Given the description of an element on the screen output the (x, y) to click on. 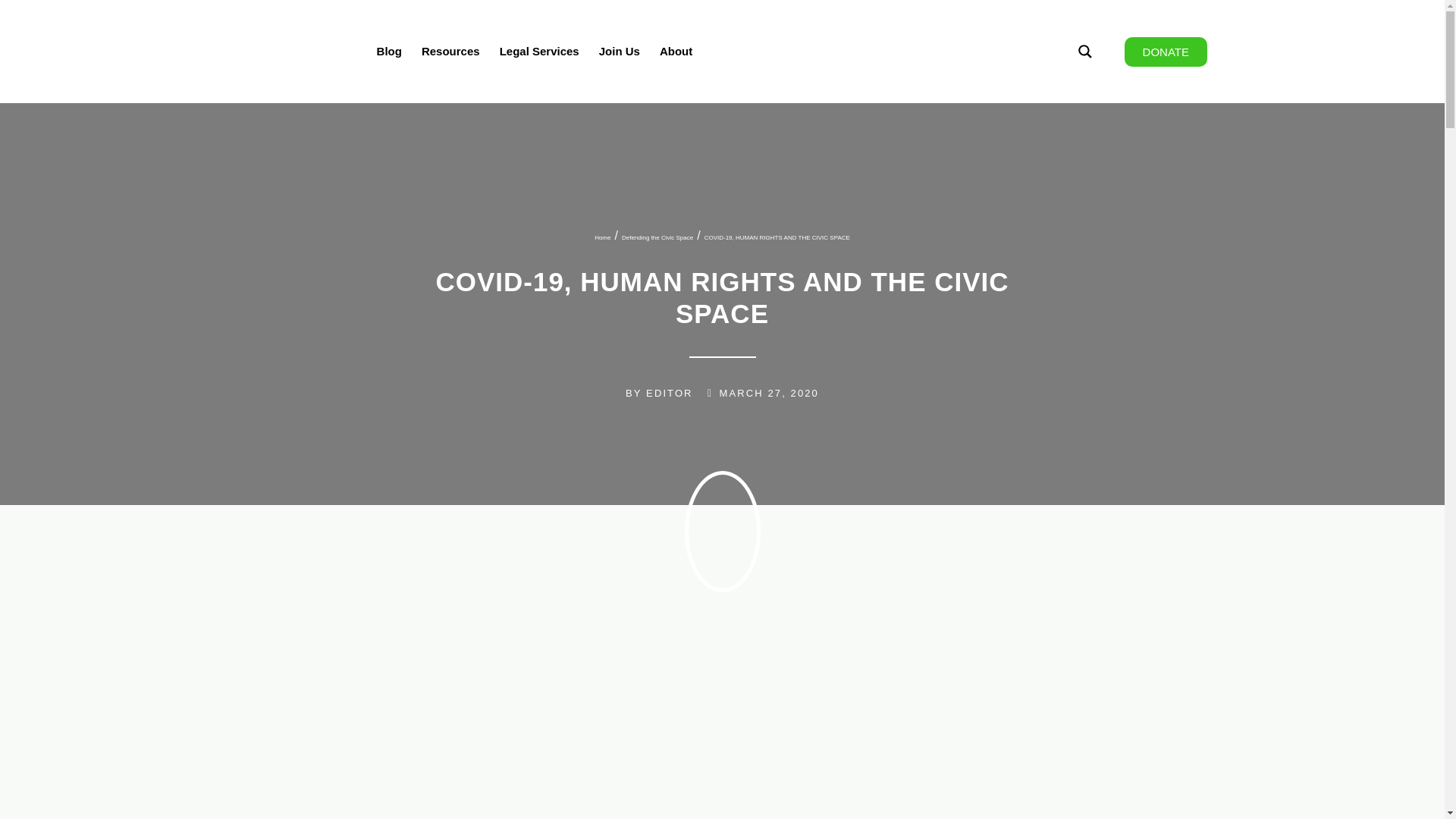
Home (602, 238)
Resources (450, 51)
COVID-19, HUMAN RIGHTS AND THE CIVIC SPACE 3 (524, 739)
DONATE (1165, 51)
About (675, 51)
COVID-19, HUMAN RIGHTS AND THE CIVIC SPACE (777, 238)
Legal Services (539, 51)
Join Us (619, 51)
